Given the description of an element on the screen output the (x, y) to click on. 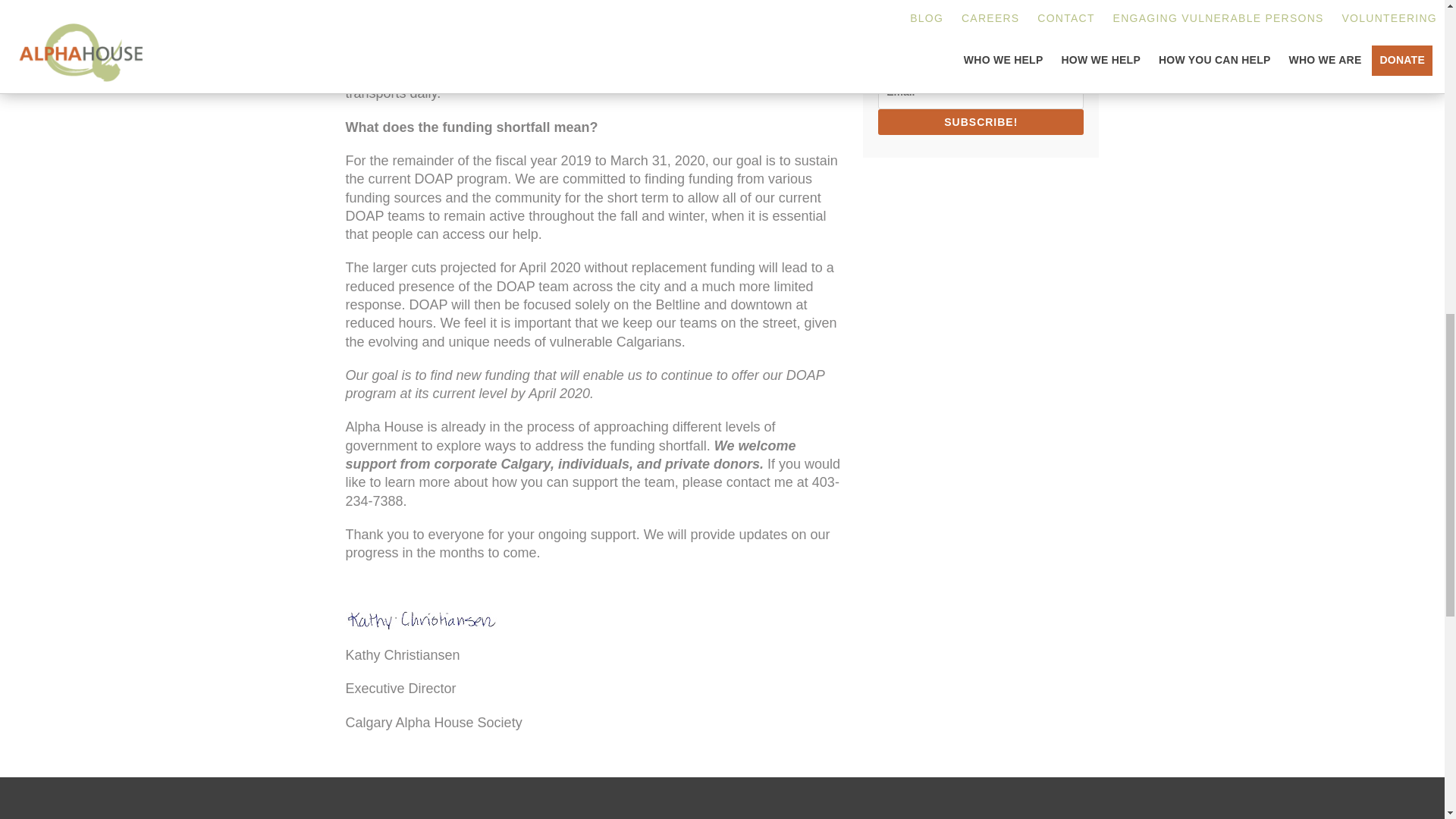
SUBSCRIBE! (980, 121)
